Given the description of an element on the screen output the (x, y) to click on. 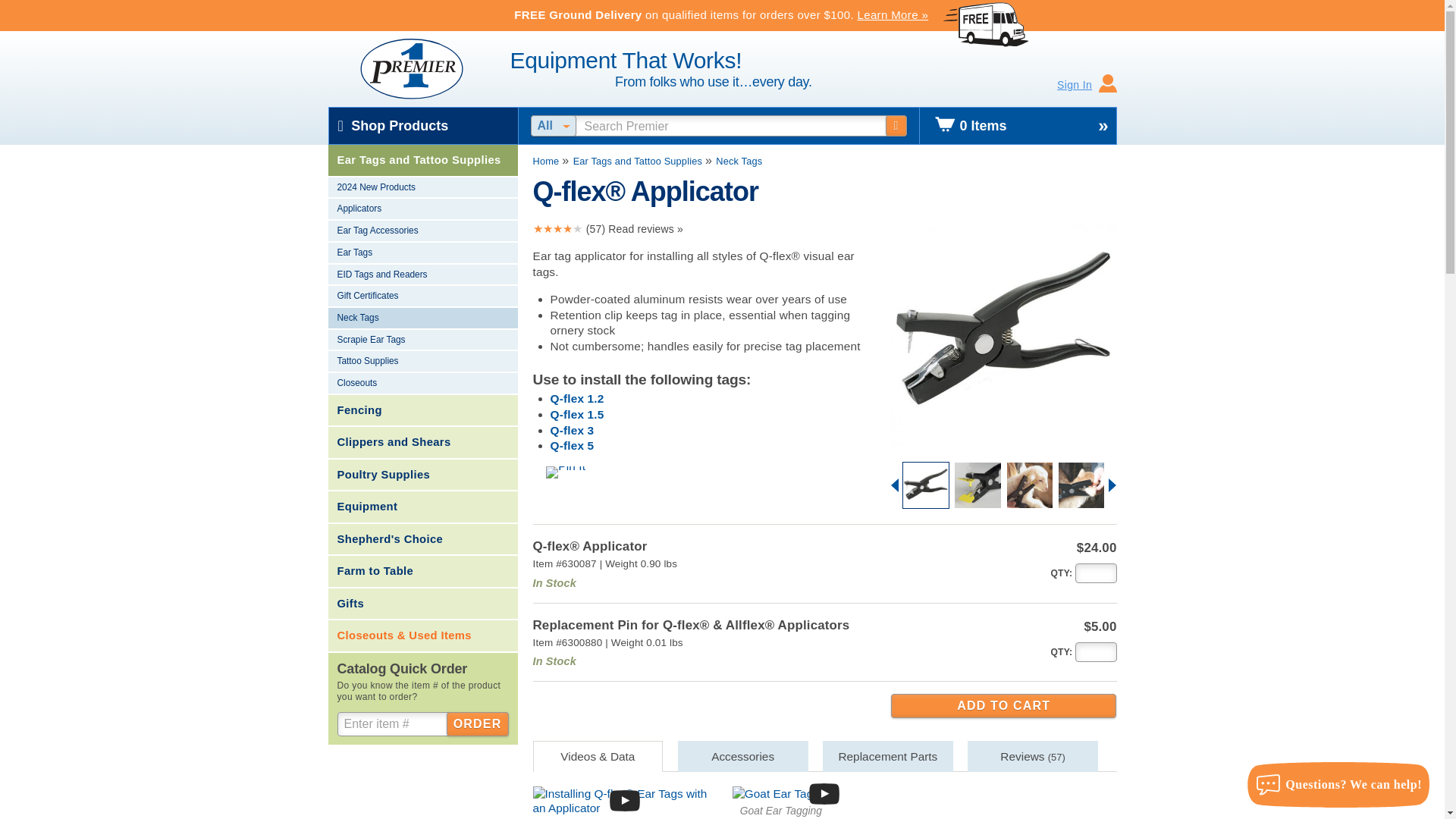
Product rating: 3.8 out of 5 (557, 229)
Equipment (421, 507)
Fencing (421, 410)
Ear Tags (421, 253)
Neck Tags (738, 161)
Farm to Table (421, 572)
SEARCH (896, 125)
EID Tags and Readers (421, 275)
Home (545, 161)
2024 New Products (421, 188)
Clippers and Shears (421, 442)
Applicators (421, 209)
Closeouts (421, 383)
Gifts (421, 603)
Click here to search. (896, 125)
